Given the description of an element on the screen output the (x, y) to click on. 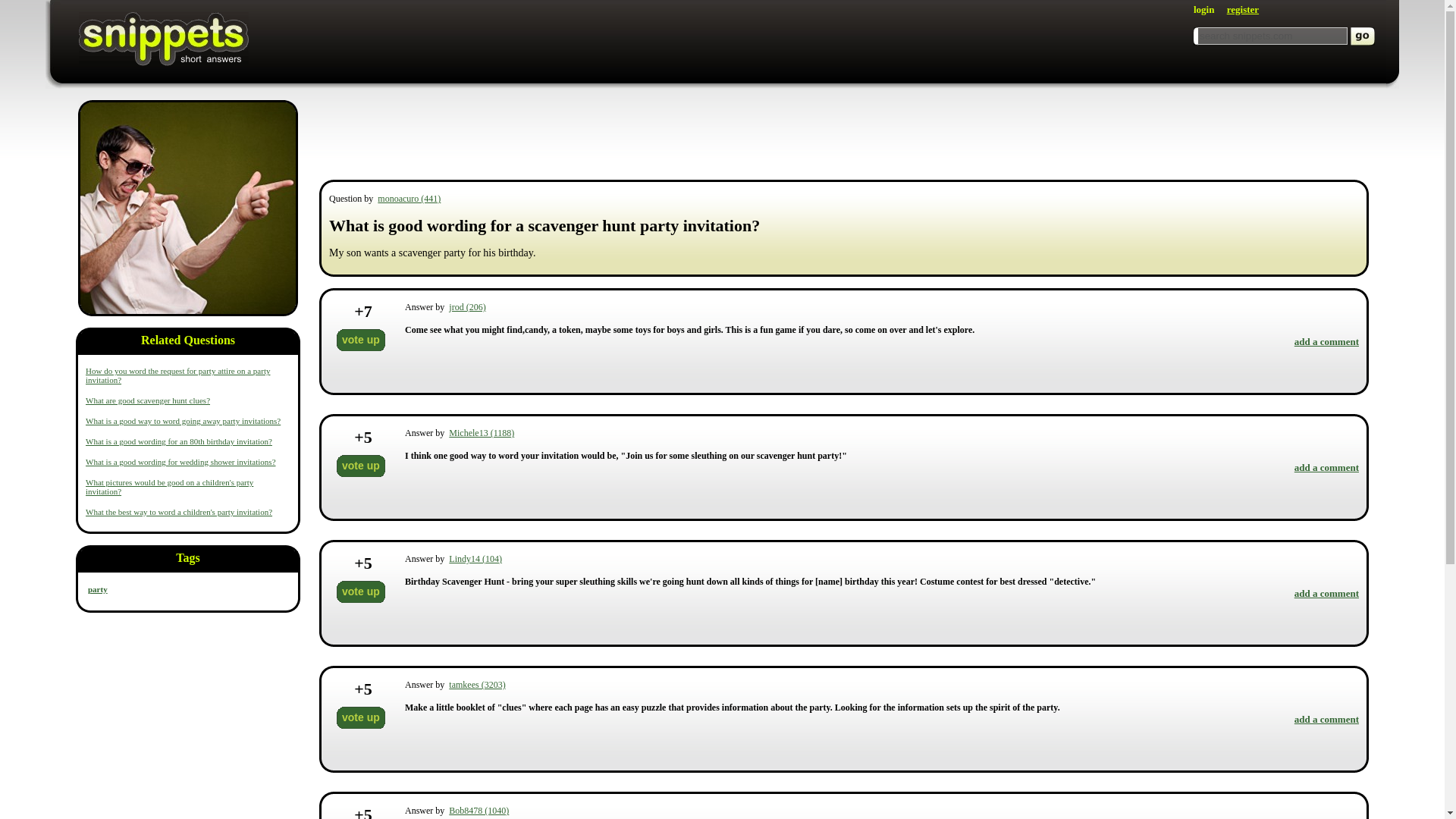
What are good scavenger hunt clues? (147, 399)
Tags (187, 561)
vote up (361, 340)
register (1243, 9)
What is a good wording for wedding shower invitations? (180, 461)
login (1203, 9)
vote up (361, 465)
add a comment (1326, 467)
add a comment (1326, 718)
search snippets.com (1273, 36)
What is a good way to word going away party invitations? (183, 420)
What is a good wording for an 80th birthday invitation? (178, 440)
party (188, 207)
vote up (361, 717)
